Given the description of an element on the screen output the (x, y) to click on. 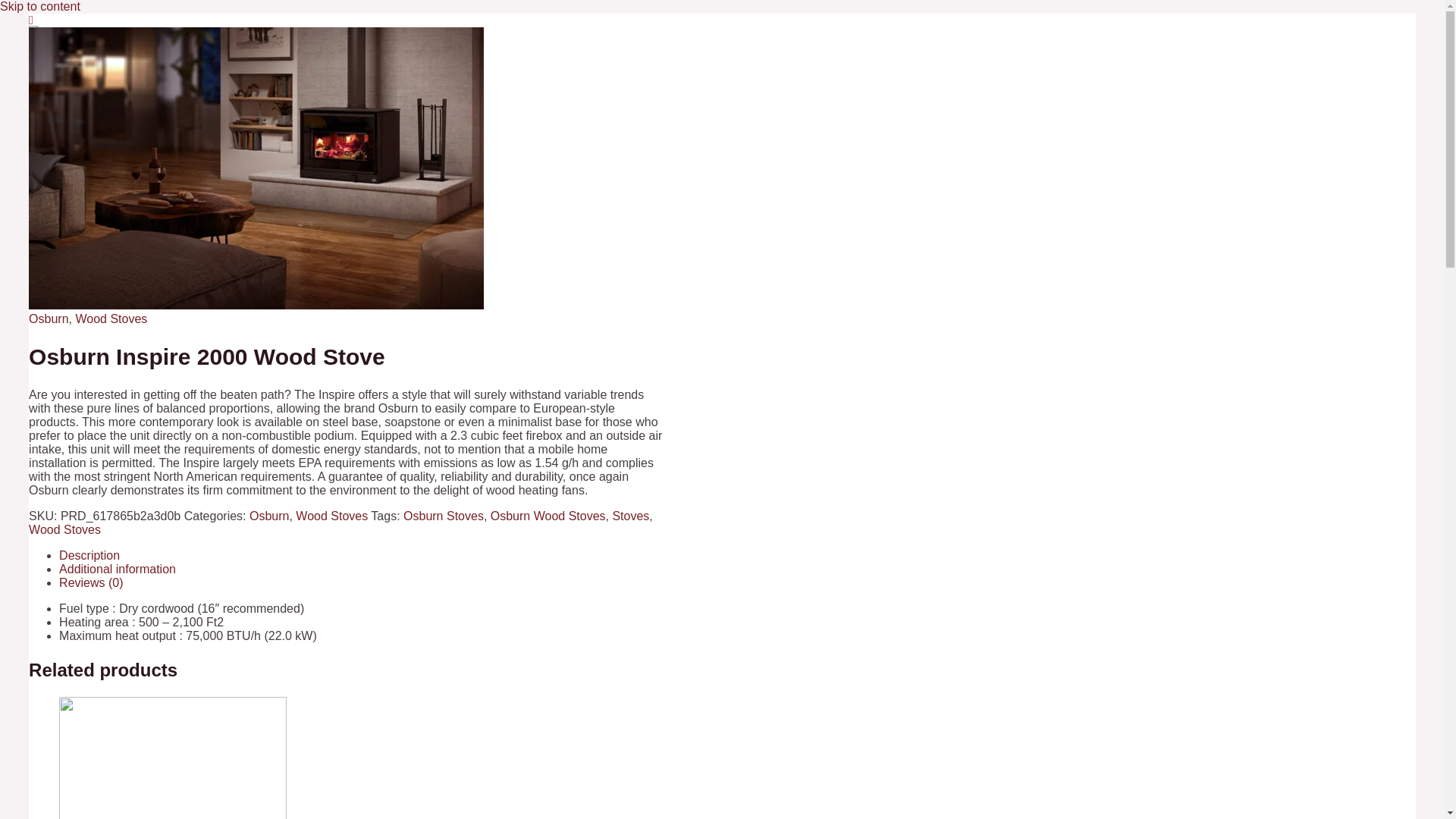
About Us (81, 144)
Skip to content (40, 6)
Home (73, 91)
MENU TOGGLE (171, 198)
Skip to content (40, 6)
Services (85, 197)
